Given the description of an element on the screen output the (x, y) to click on. 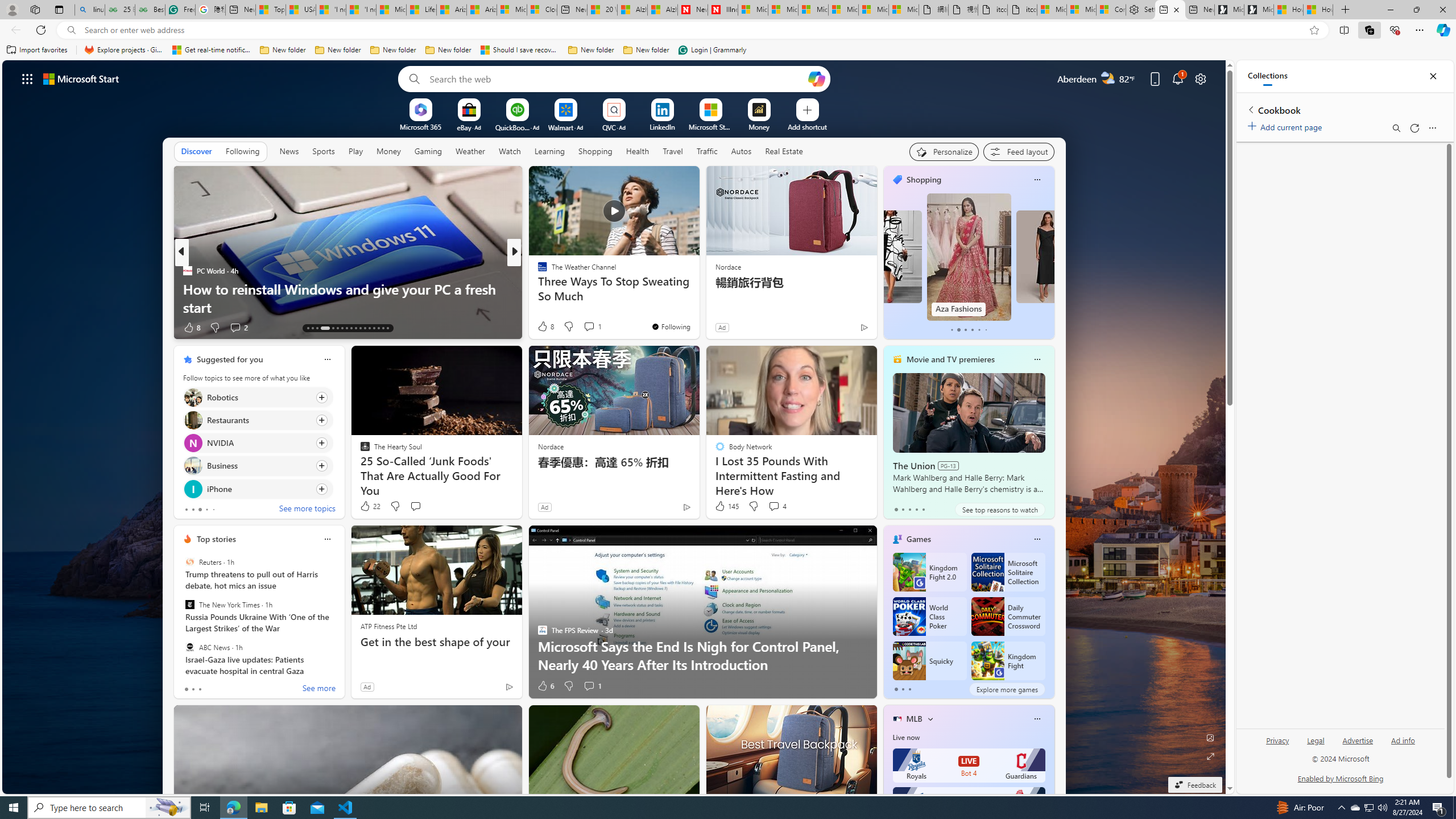
Illness news & latest pictures from Newsweek.com (722, 9)
AutomationID: backgroundImagePicture (613, 426)
Health (637, 151)
20 Ways to Boost Your Protein Intake at Every Meal (601, 9)
Traffic (706, 151)
tab-2 (908, 689)
Games (917, 538)
